Given the description of an element on the screen output the (x, y) to click on. 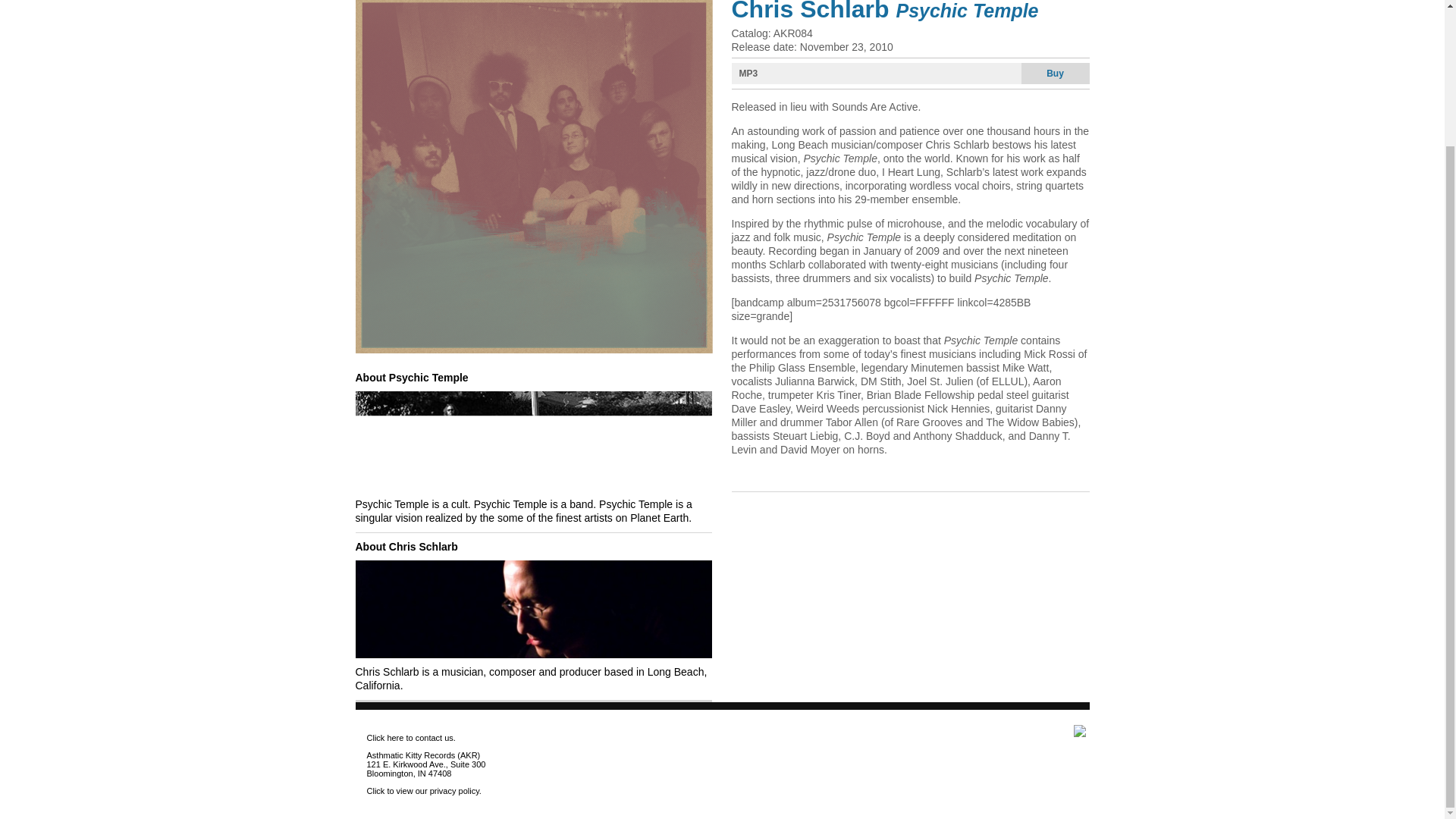
Click to view our privacy policy (422, 790)
Buy (1054, 73)
About Psychic Temple (411, 377)
About Chris Schlarb (406, 546)
Psychic Temple (533, 349)
Click here to contact us (409, 737)
